Given the description of an element on the screen output the (x, y) to click on. 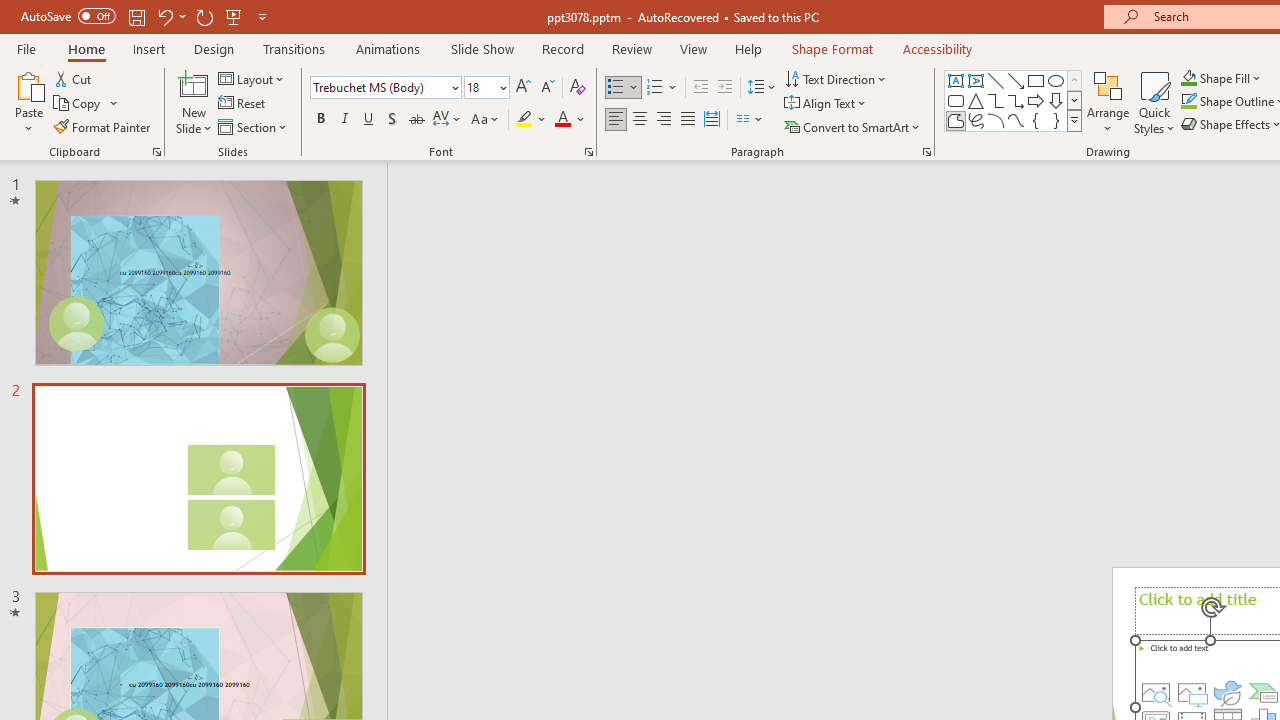
Insert a SmartArt Graphic (1264, 692)
Stock Images (1156, 692)
